Given the description of an element on the screen output the (x, y) to click on. 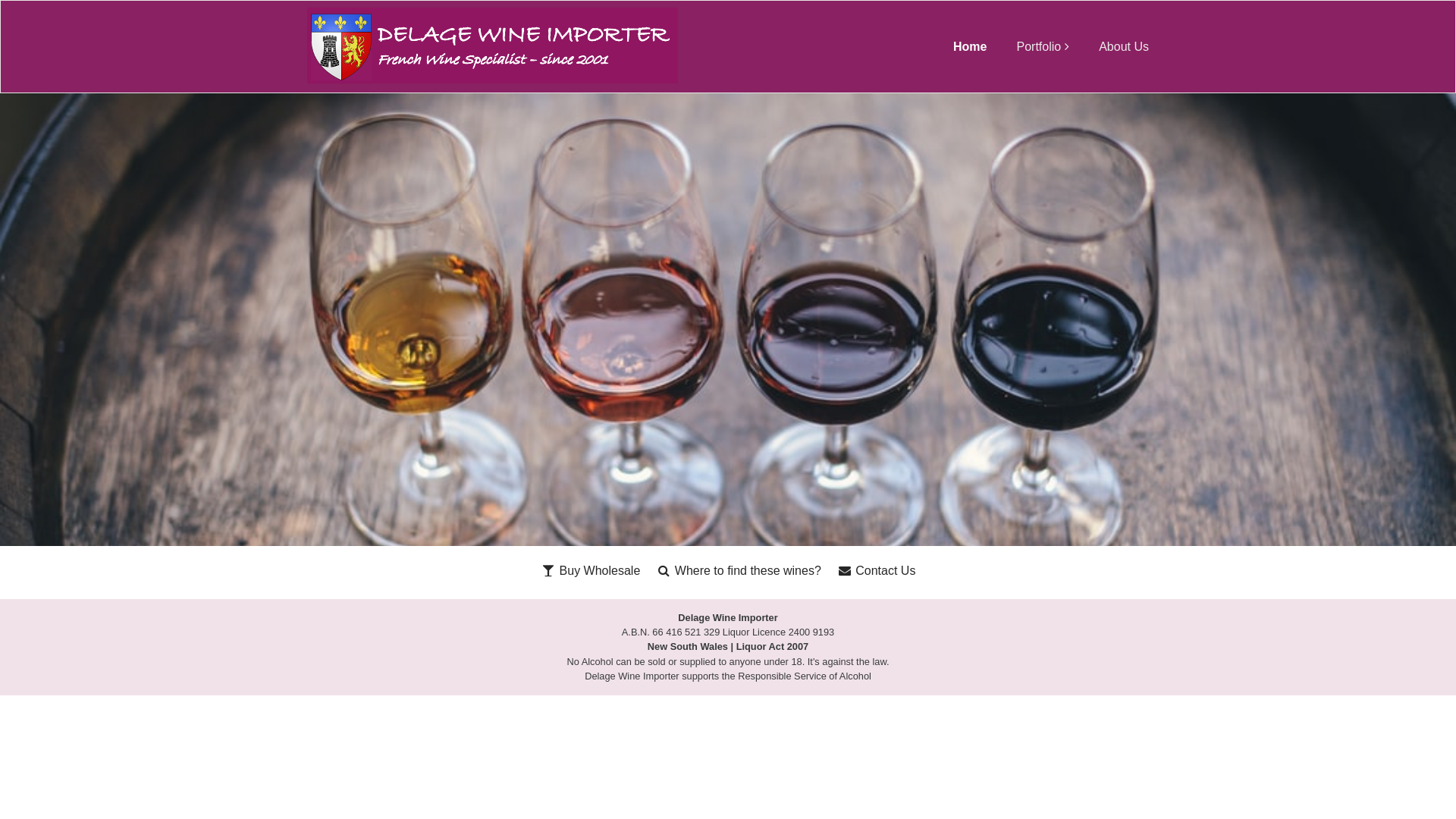
About Us Element type: text (1123, 46)
Portfolio Element type: text (1042, 46)
Contact Us Element type: text (875, 570)
Home Element type: text (969, 46)
Buy Wholesale Element type: text (590, 570)
Where to find these wines? Element type: text (738, 570)
